Given the description of an element on the screen output the (x, y) to click on. 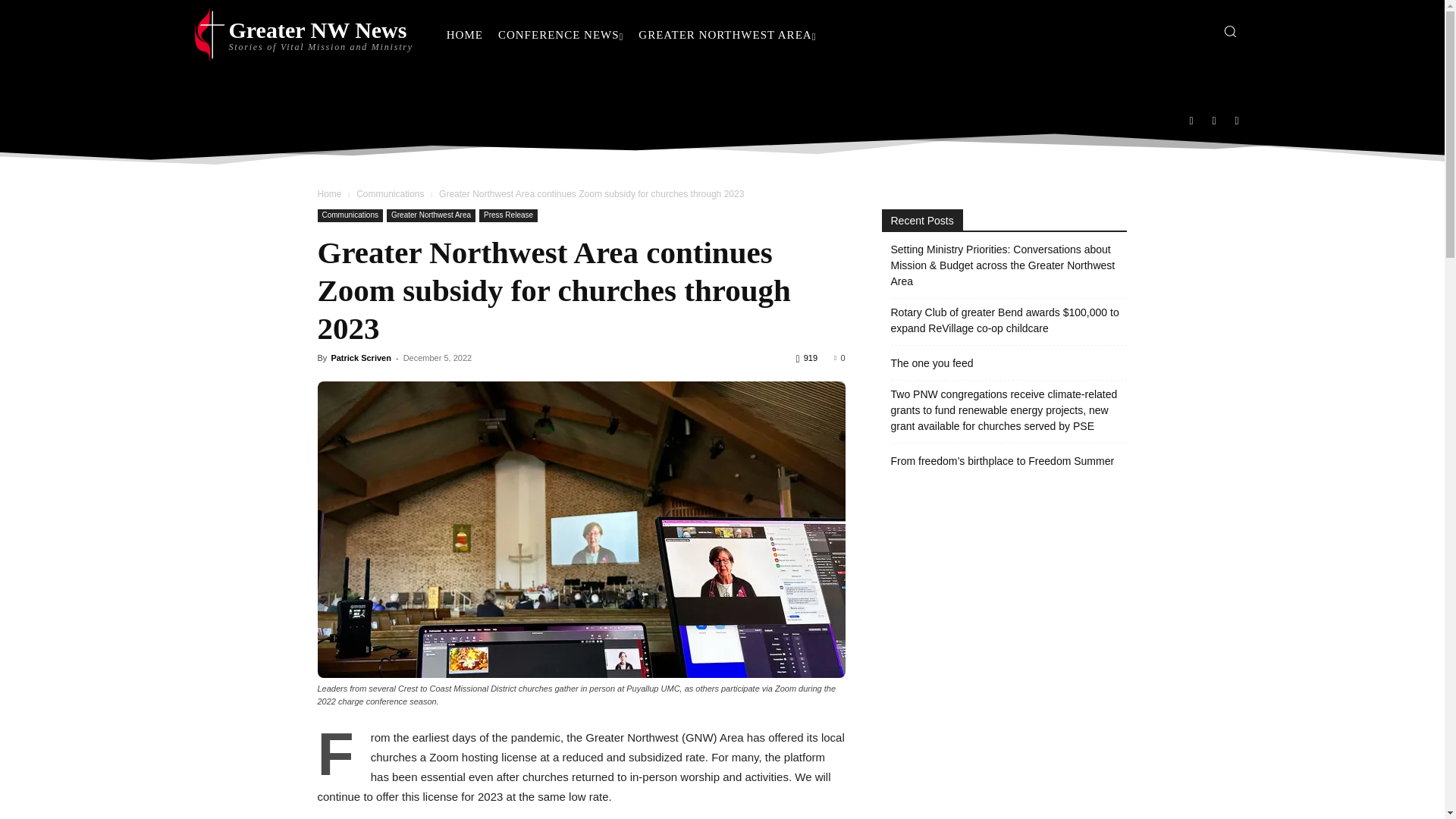
0 (839, 357)
GREATER NORTHWEST AREA (727, 34)
Facebook (1191, 120)
View all posts in Communications (389, 194)
UMC Logo (302, 34)
CONFERENCE NEWS (560, 34)
Instagram (1214, 120)
Press Release (508, 215)
Communications (302, 34)
Patrick Scriven (349, 215)
zoom-hybrid (360, 357)
Home (389, 194)
Greater Northwest Area (328, 194)
